Given the description of an element on the screen output the (x, y) to click on. 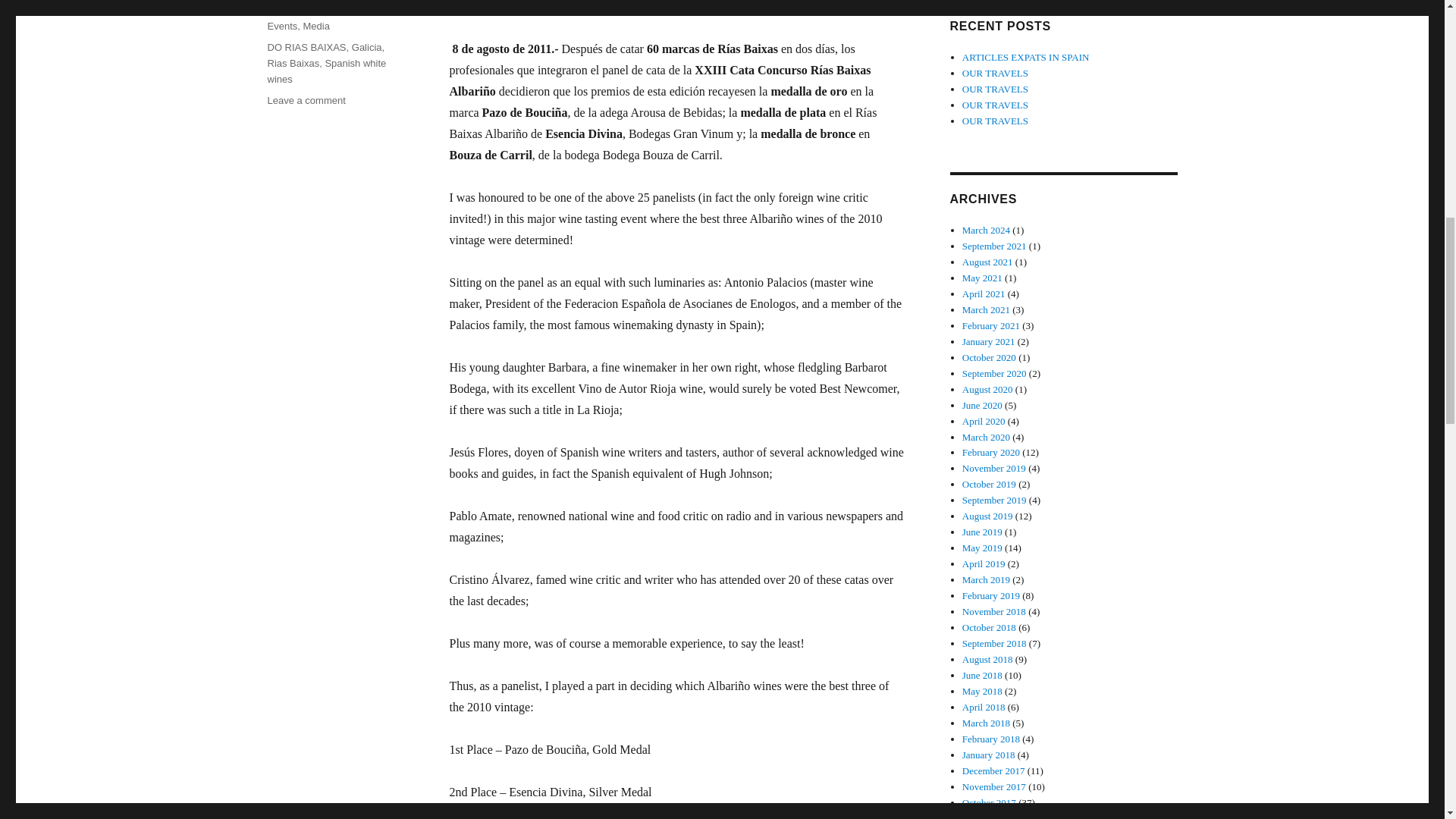
DO RIAS BAIXAS (306, 47)
Galicia (366, 47)
OUR TRAVELS (994, 120)
March 2024 (986, 229)
Spanish white wines (325, 71)
Events (281, 25)
OUR TRAVELS (994, 89)
OUR TRAVELS (994, 72)
Media (315, 25)
